Given the description of an element on the screen output the (x, y) to click on. 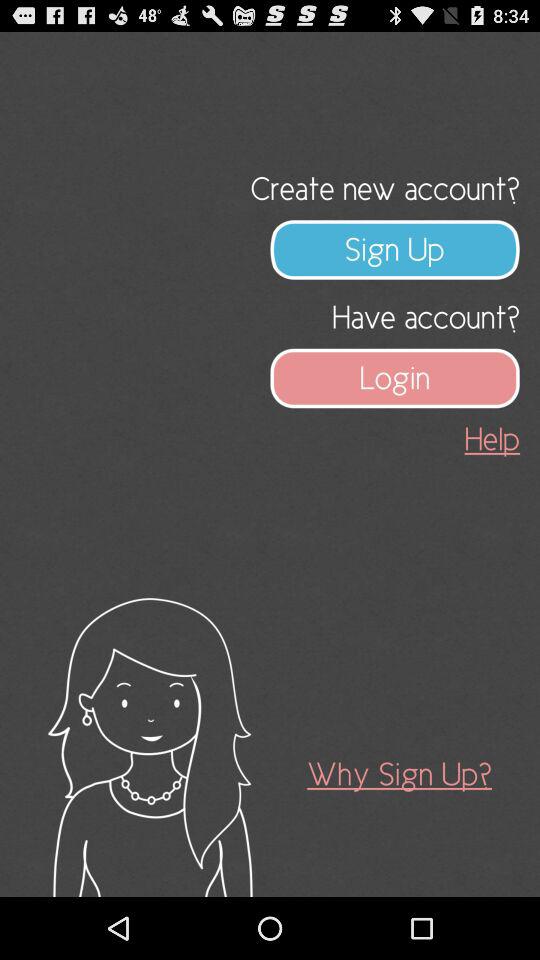
select the button below the login (492, 438)
